Given the description of an element on the screen output the (x, y) to click on. 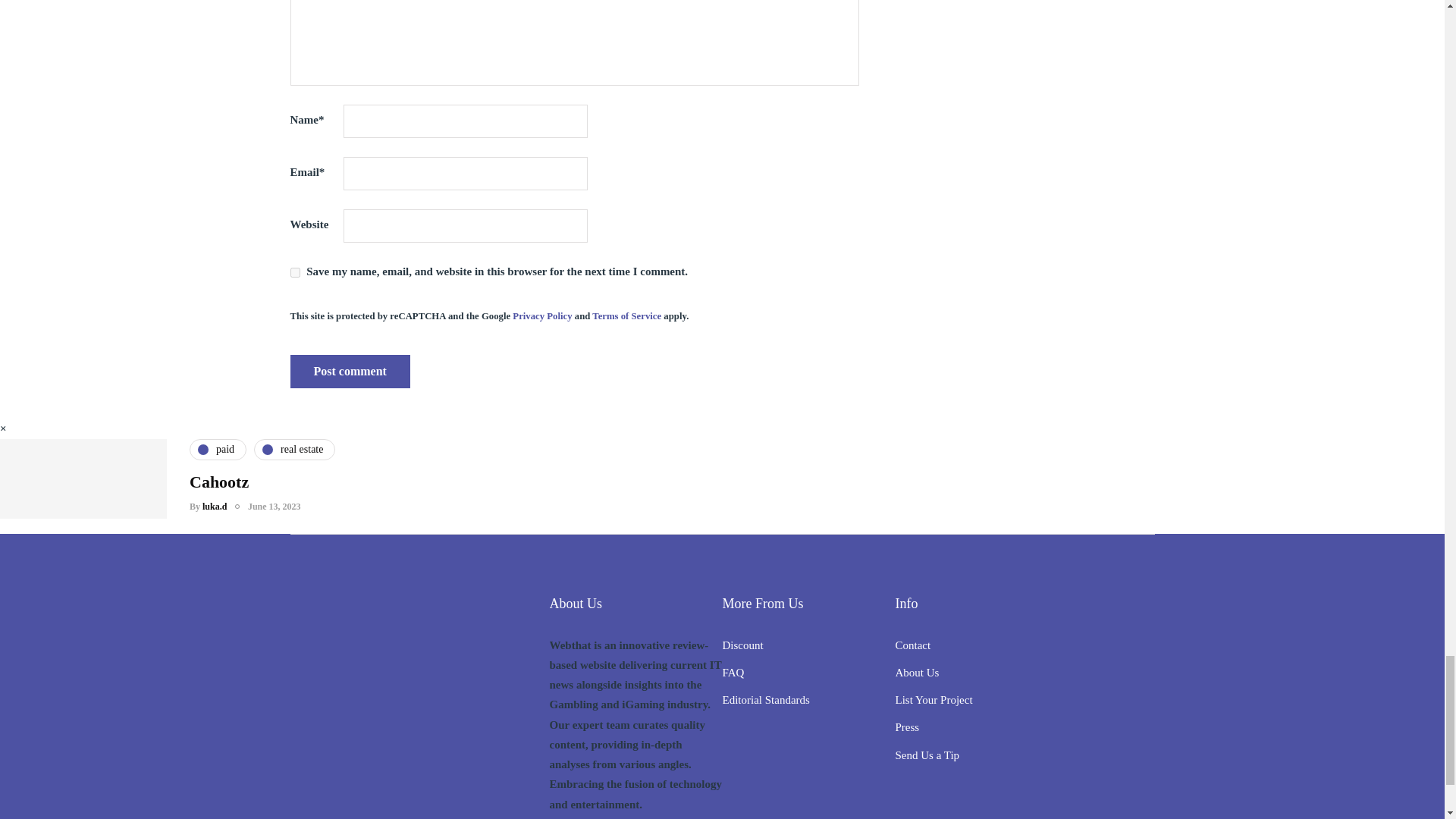
yes (294, 272)
Post comment (349, 371)
